Given the description of an element on the screen output the (x, y) to click on. 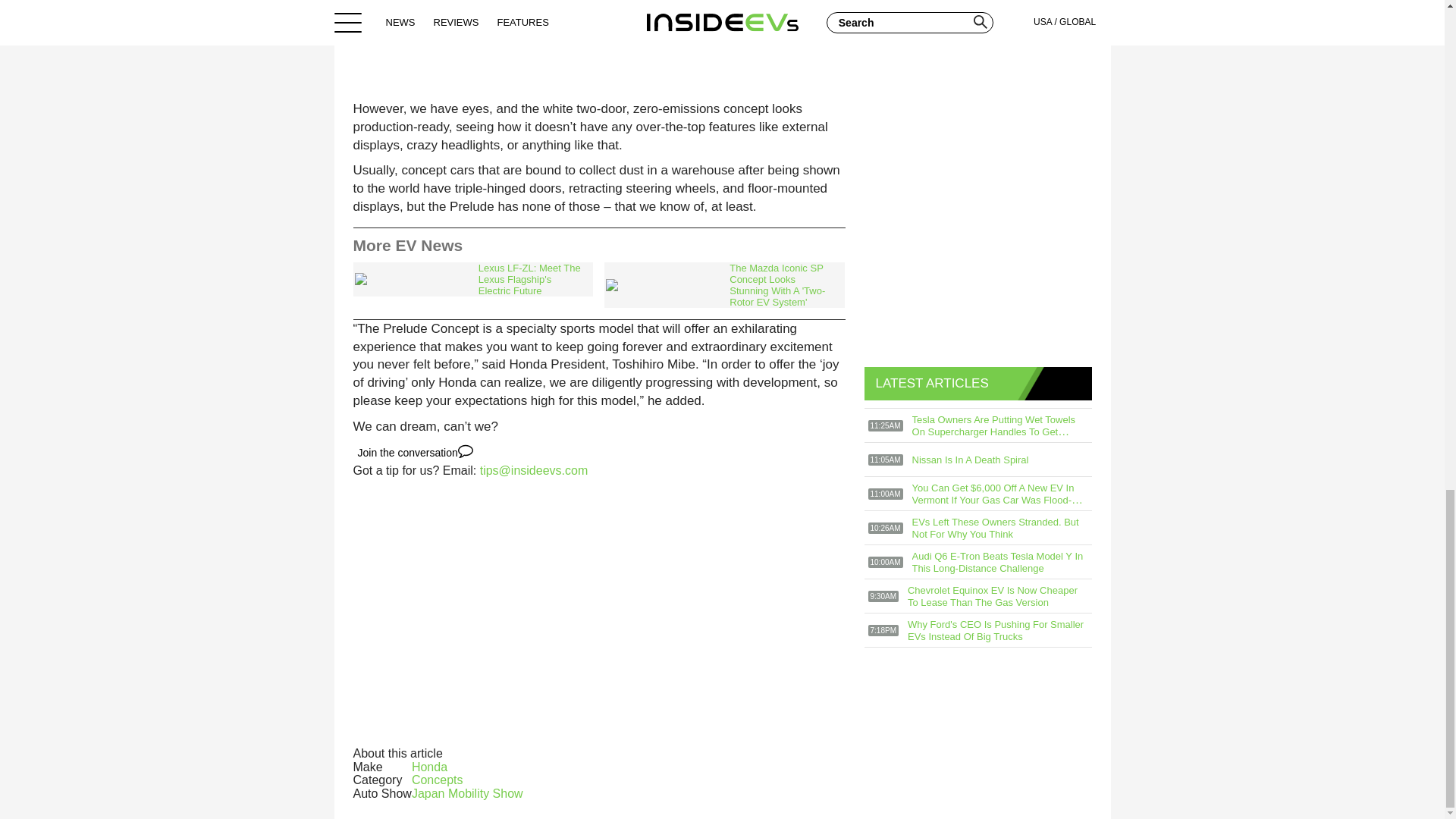
Lexus LF-ZL: Meet The Lexus Flagship's Electric Future (473, 279)
